Given the description of an element on the screen output the (x, y) to click on. 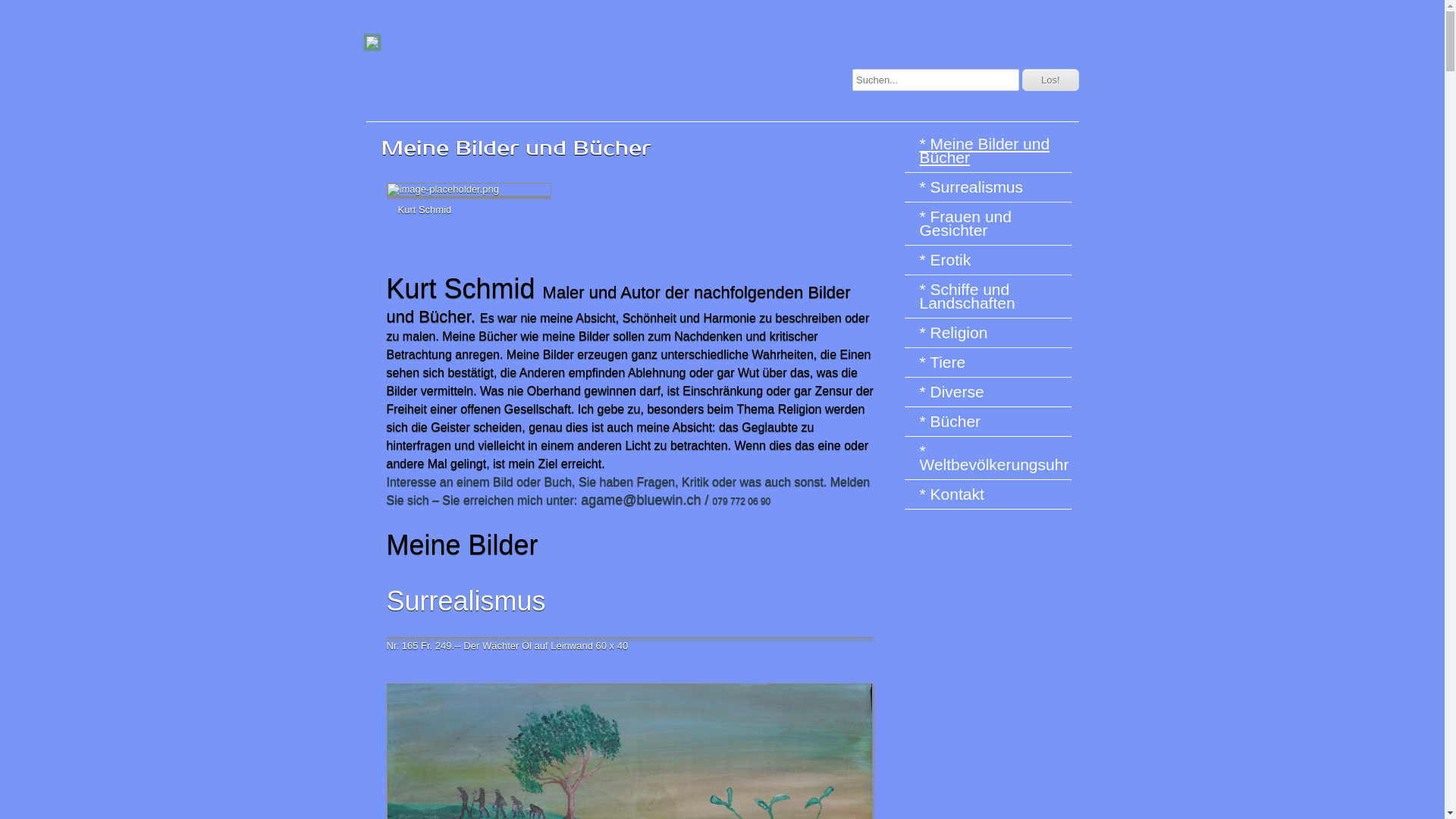
Tiere Element type: text (991, 362)
Surrealismus Element type: text (991, 187)
Diverse Element type: text (991, 391)
Schiffe und Landschaften Element type: text (991, 296)
Los! Element type: text (1050, 80)
Erotik Element type: text (991, 259)
Kontakt Element type: text (991, 494)
Religion Element type: text (991, 332)
Frauen und Gesichter Element type: text (991, 223)
